Given the description of an element on the screen output the (x, y) to click on. 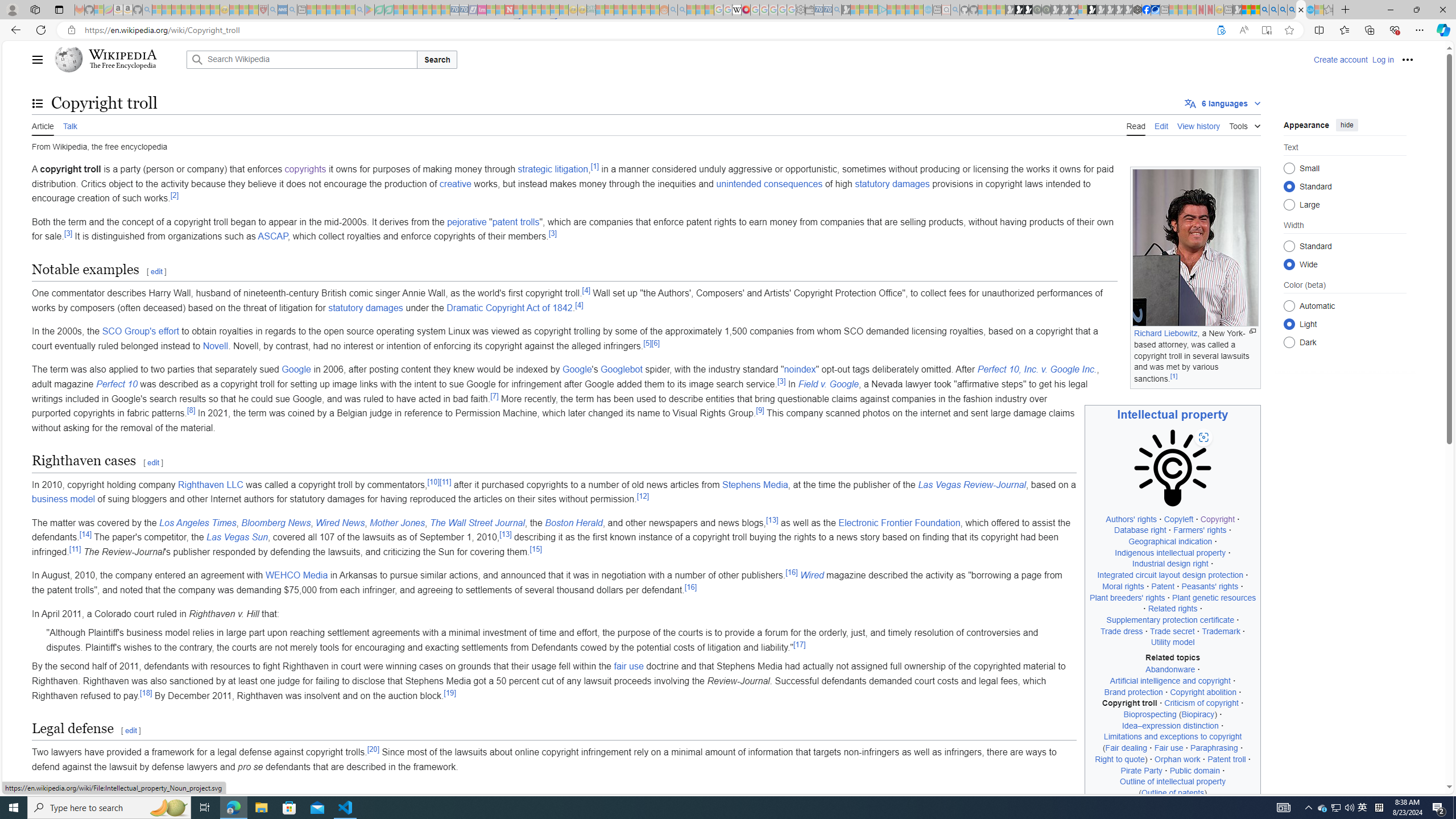
Pets - MSN - Sleeping (340, 9)
SCO Group's effort (140, 331)
Services - Maintenance | Sky Blue Bikes - Sky Blue Bikes (1309, 9)
Fair dealing (1126, 747)
Trademark (1220, 630)
Article (42, 124)
Database right (1139, 529)
